Given the description of an element on the screen output the (x, y) to click on. 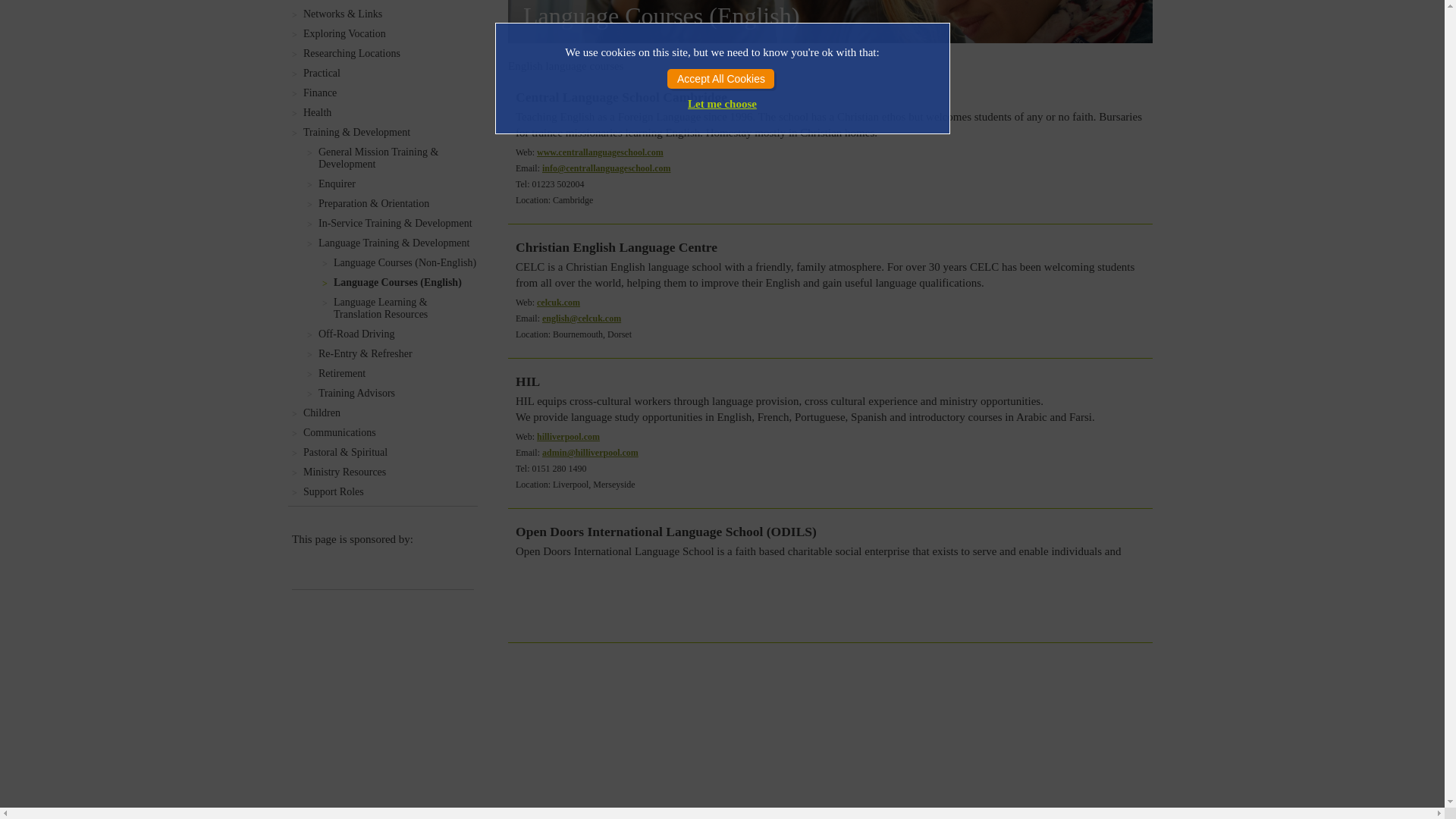
Exploring Vocation (389, 33)
Off-Road Driving (397, 334)
Researching Locations (389, 53)
Finance (389, 92)
Practical (389, 73)
Enquirer (397, 184)
Health (389, 112)
